Given the description of an element on the screen output the (x, y) to click on. 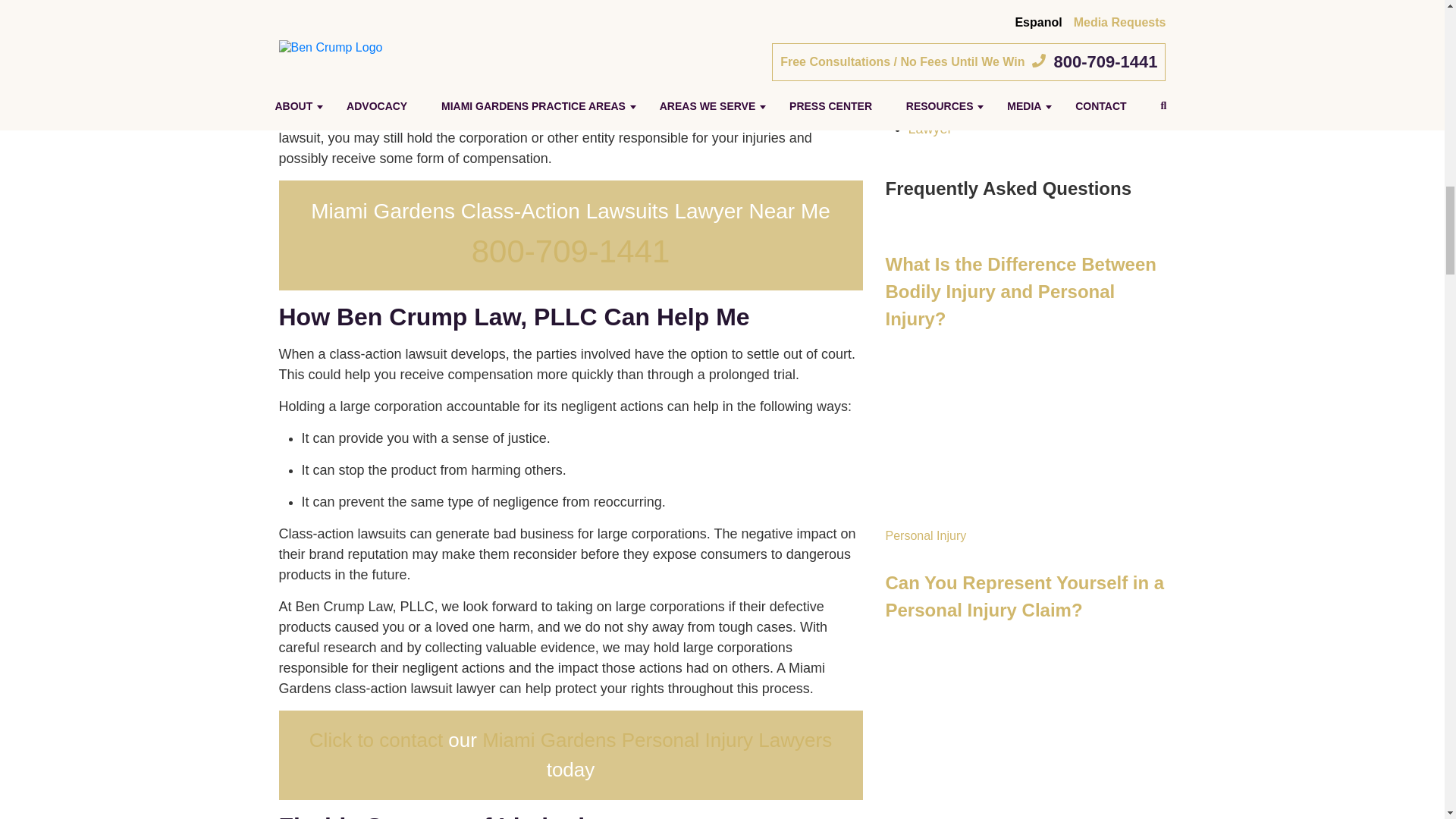
Can You Represent Yourself in a Personal Injury Claim? (1025, 682)
Miami Gardens Personal Injury Lawyers (656, 739)
